Given the description of an element on the screen output the (x, y) to click on. 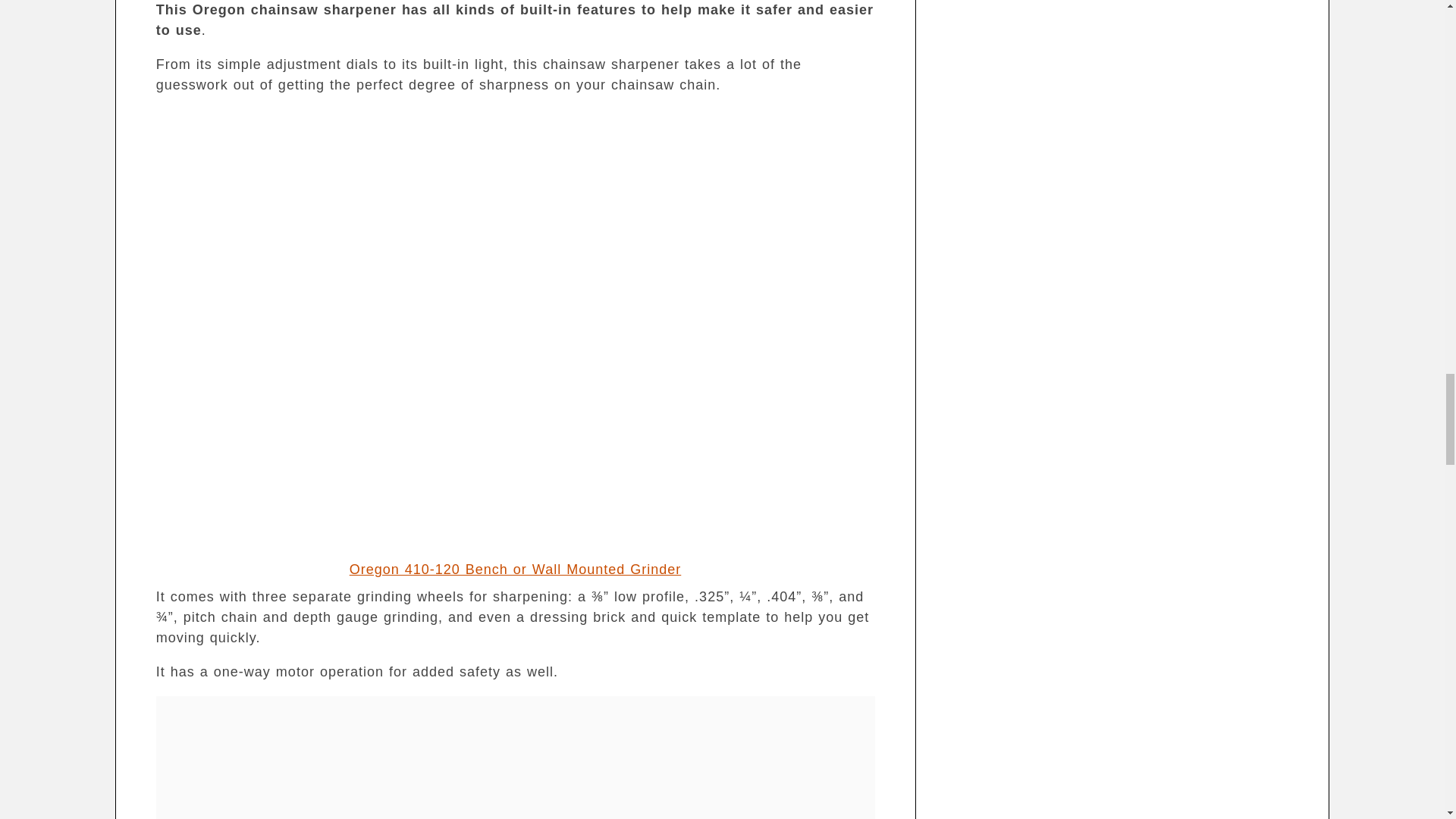
Oregon 410-120 Bench or Wall Mounted Grinder (515, 569)
